Given the description of an element on the screen output the (x, y) to click on. 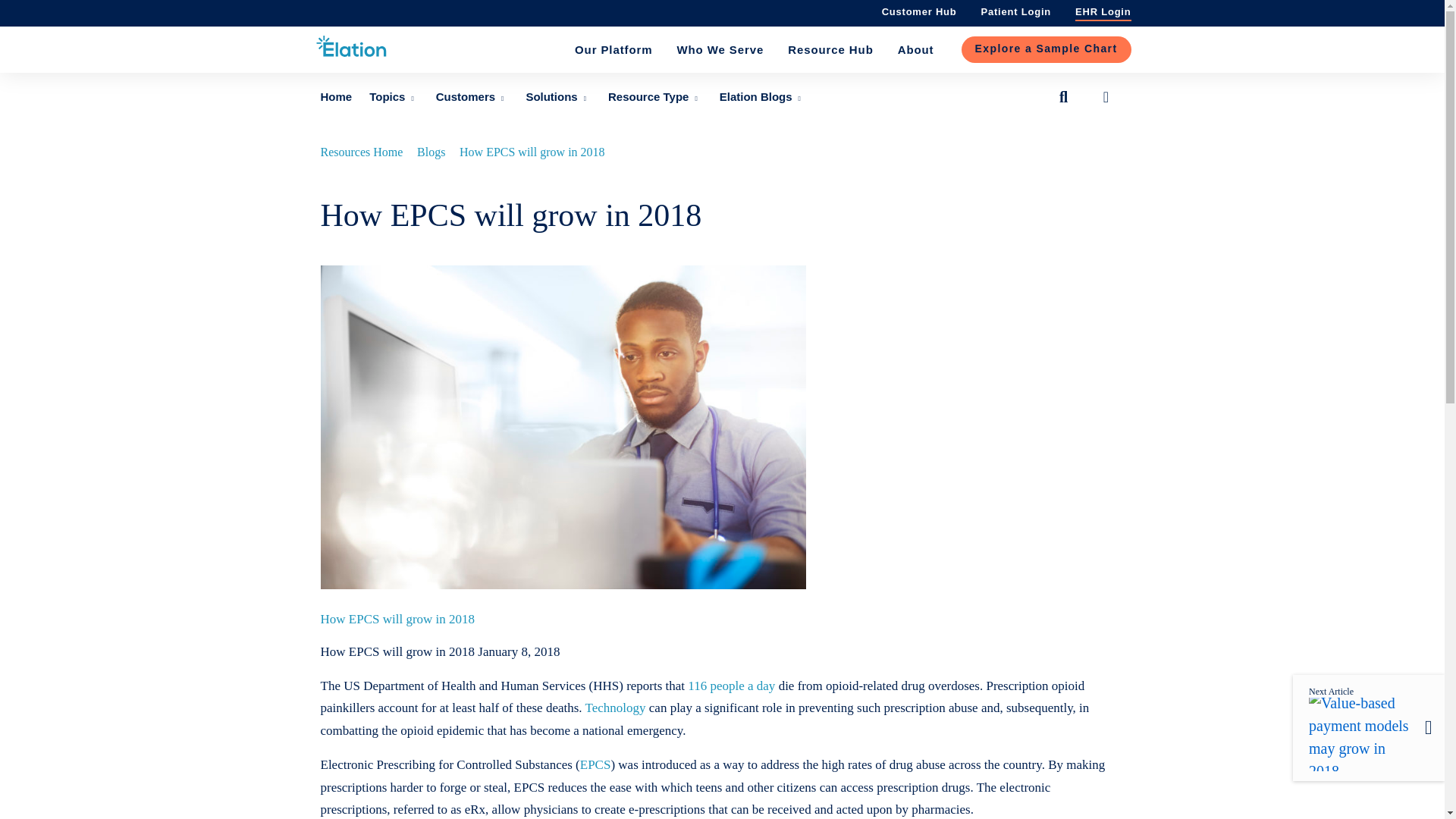
About (916, 50)
Customer Hub (919, 10)
Who We Serve (719, 50)
Share this Post (1105, 96)
Our Platform (613, 50)
Open Search Box (1063, 96)
Patient Login (1016, 10)
EHR Login (1103, 10)
Resource Hub (830, 50)
